Given the description of an element on the screen output the (x, y) to click on. 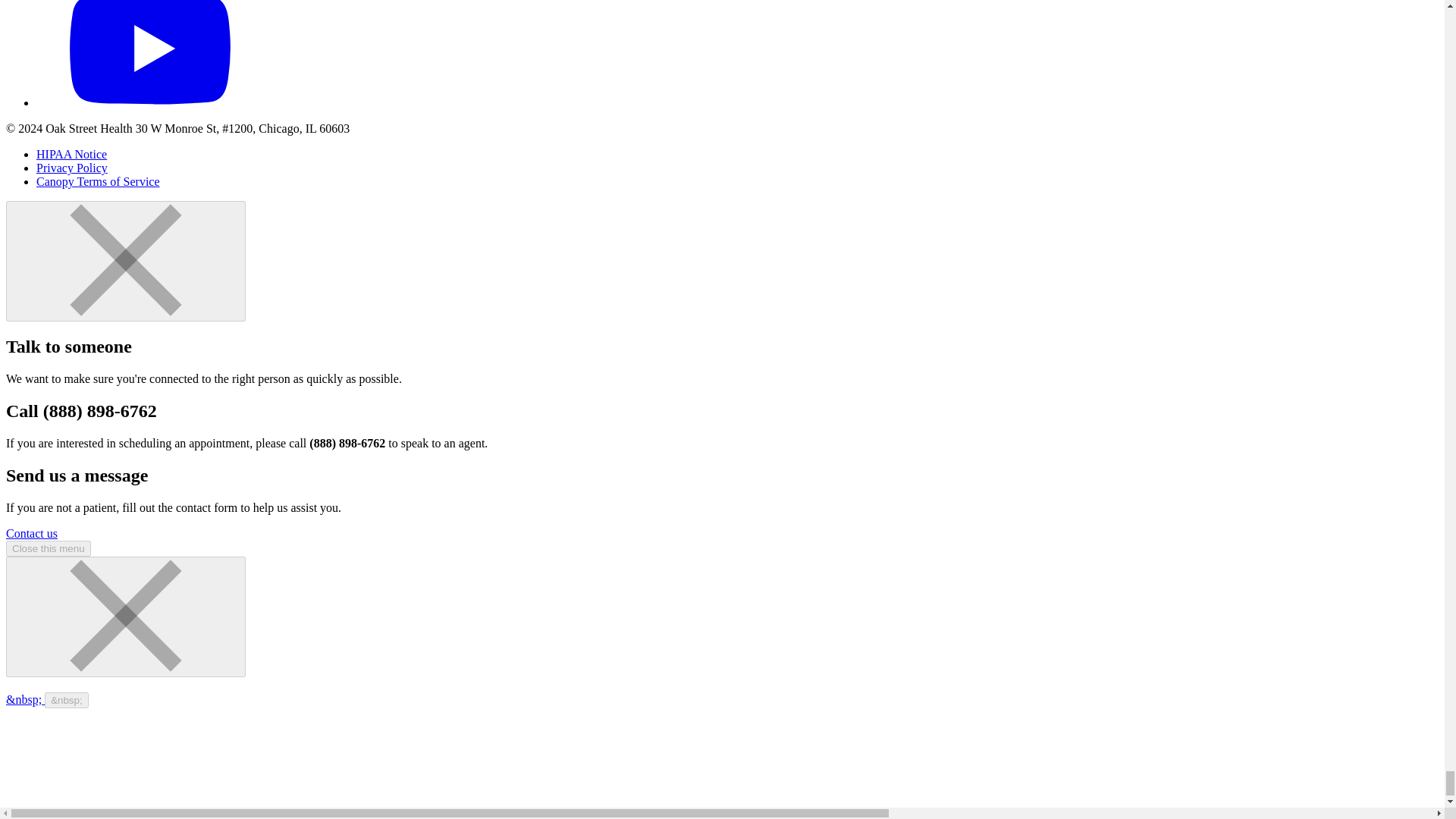
YouTube (149, 102)
